Given the description of an element on the screen output the (x, y) to click on. 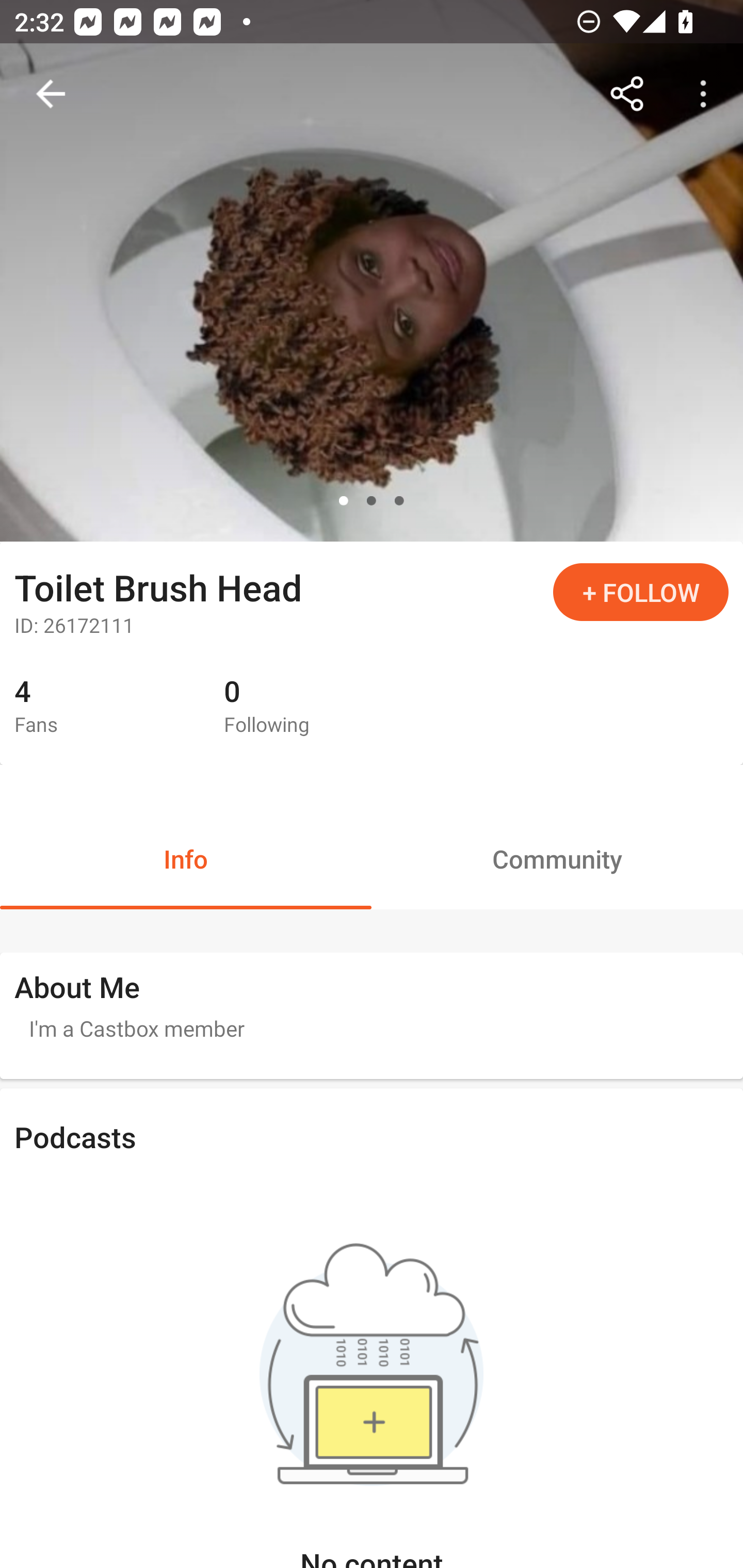
Navigate up (50, 93)
Share (626, 93)
More options (706, 93)
+ FOLLOW (640, 591)
4 Fans (104, 707)
0 Following (313, 707)
Info (185, 858)
Community (557, 858)
